Given the description of an element on the screen output the (x, y) to click on. 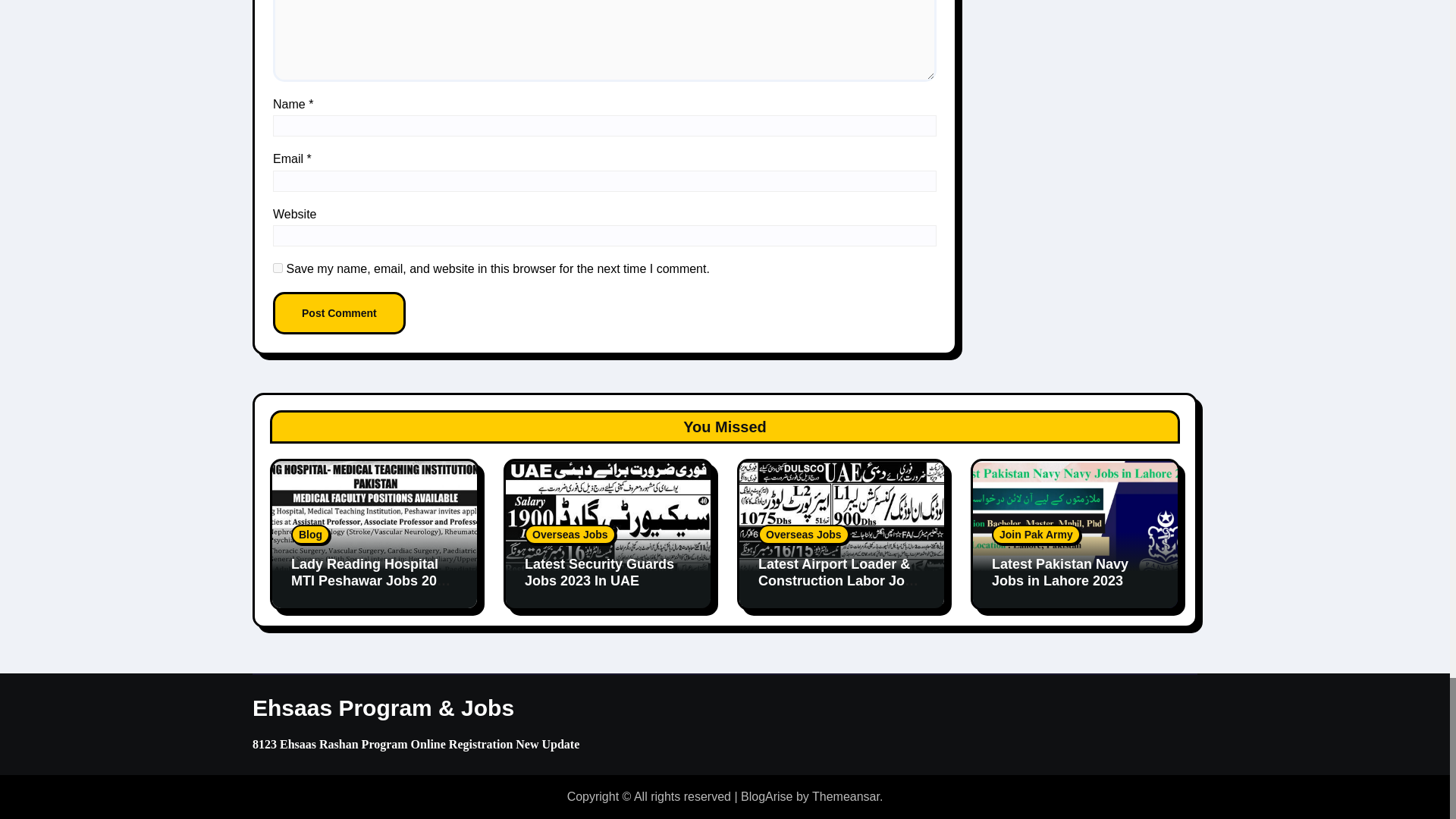
Permalink to: Latest Security Guards Jobs 2023 In UAE (599, 572)
Permalink to: Latest Pakistan Navy Jobs in Lahore 2023 (1059, 572)
Post Comment (339, 312)
yes (277, 267)
